Given the description of an element on the screen output the (x, y) to click on. 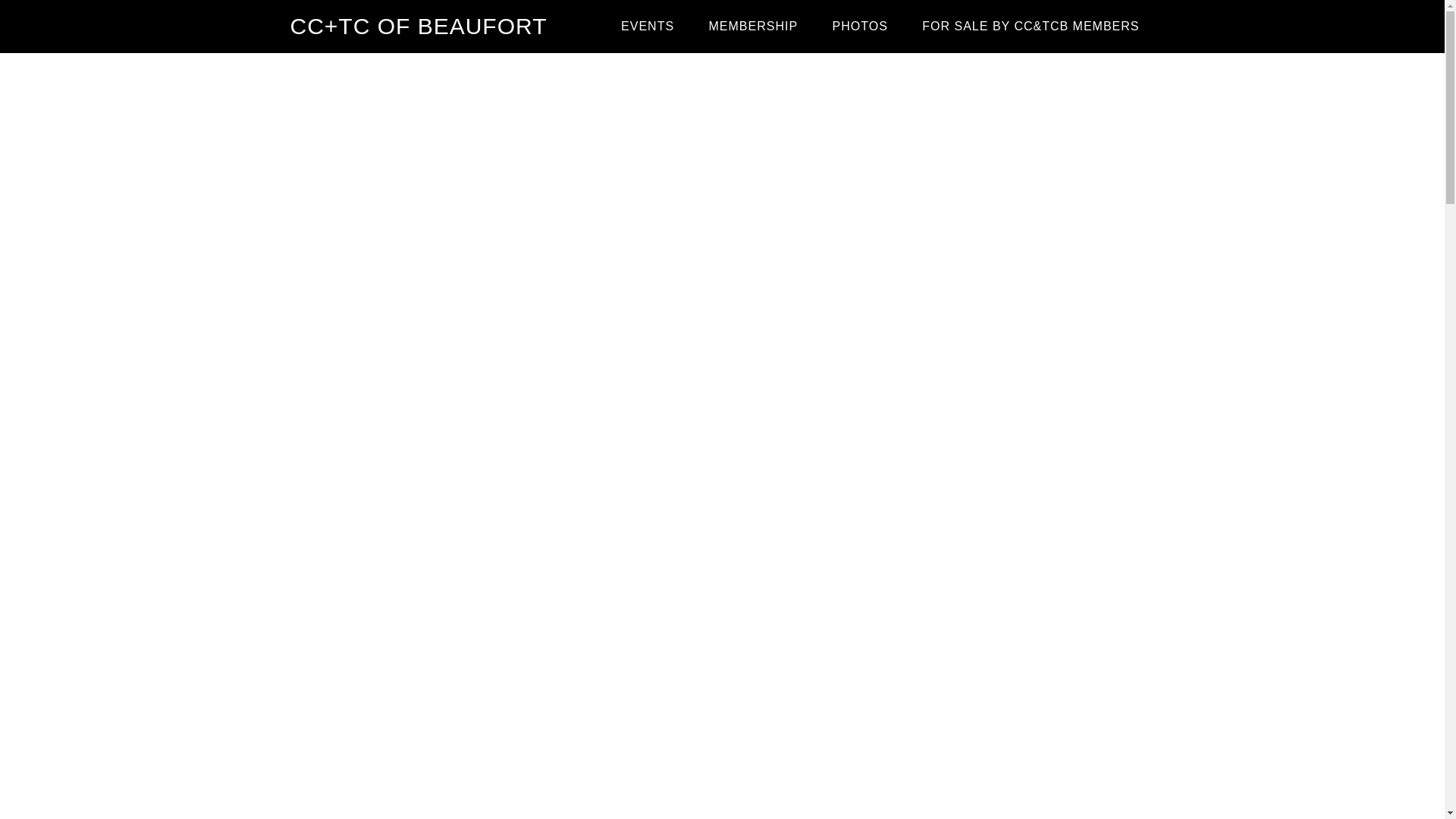
EVENTS (646, 26)
MEMBERSHIP (753, 26)
PHOTOS (859, 26)
